Given the description of an element on the screen output the (x, y) to click on. 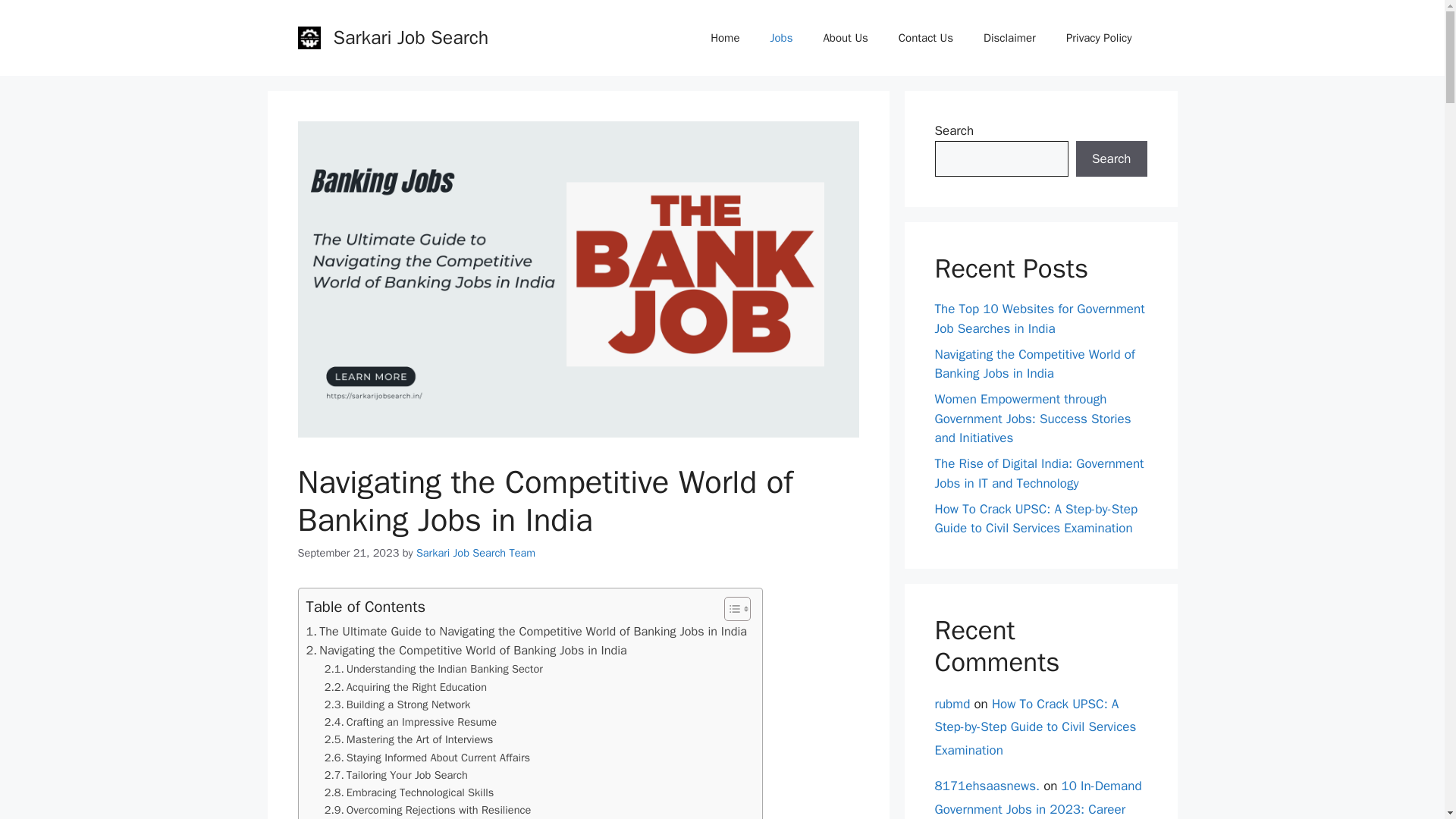
Acquiring the Right Education (405, 687)
Crafting an Impressive Resume (410, 722)
Disclaimer (1009, 37)
Jobs (781, 37)
Contact Us (925, 37)
Building a Strong Network (397, 704)
Tailoring Your Job Search (395, 774)
Crafting an Impressive Resume (410, 722)
Acquiring the Right Education (405, 687)
Understanding the Indian Banking Sector (433, 669)
Sarkari Job Search (411, 37)
Mastering the Art of Interviews (408, 739)
Embracing Technological Skills (409, 792)
Building a Strong Network (397, 704)
Staying Informed About Current Affairs (426, 757)
